Given the description of an element on the screen output the (x, y) to click on. 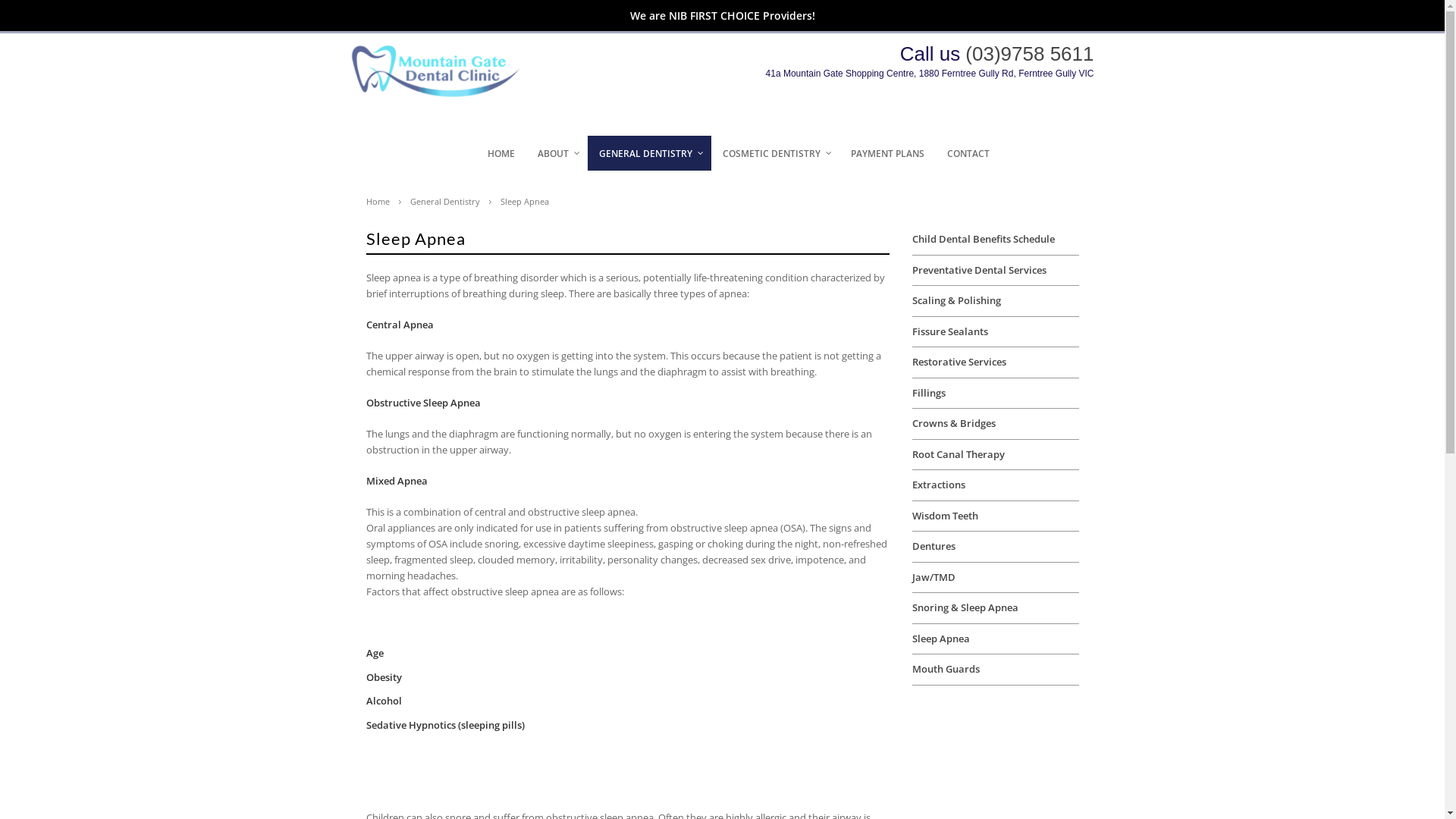
Sleep Apnea Element type: text (532, 201)
Snoring & Sleep Apnea Element type: text (964, 607)
Root Canal Therapy Element type: text (957, 454)
MG Dental Clinic Element type: hover (444, 93)
Sleep Apnea Element type: text (940, 638)
PAYMENT PLANS Element type: text (886, 153)
Crowns & Bridges Element type: text (952, 422)
Wisdom Teeth Element type: text (944, 515)
General Dentistry Element type: text (452, 201)
Mouth Guards Element type: text (945, 668)
COSMETIC DENTISTRY Element type: text (775, 153)
CONTACT Element type: text (968, 153)
(03)9758 5611 Element type: text (1029, 53)
Preventative Dental Services Element type: text (978, 269)
Scaling & Polishing Element type: text (955, 300)
Child Dental Benefits Schedule Element type: text (982, 238)
Home Element type: text (384, 201)
HOME Element type: text (501, 153)
Extractions Element type: text (937, 484)
Jaw/TMD Element type: text (932, 576)
Fissure Sealants Element type: text (949, 331)
Dentures Element type: text (932, 545)
Fillings Element type: text (927, 392)
Restorative Services Element type: text (958, 361)
